Given the description of an element on the screen output the (x, y) to click on. 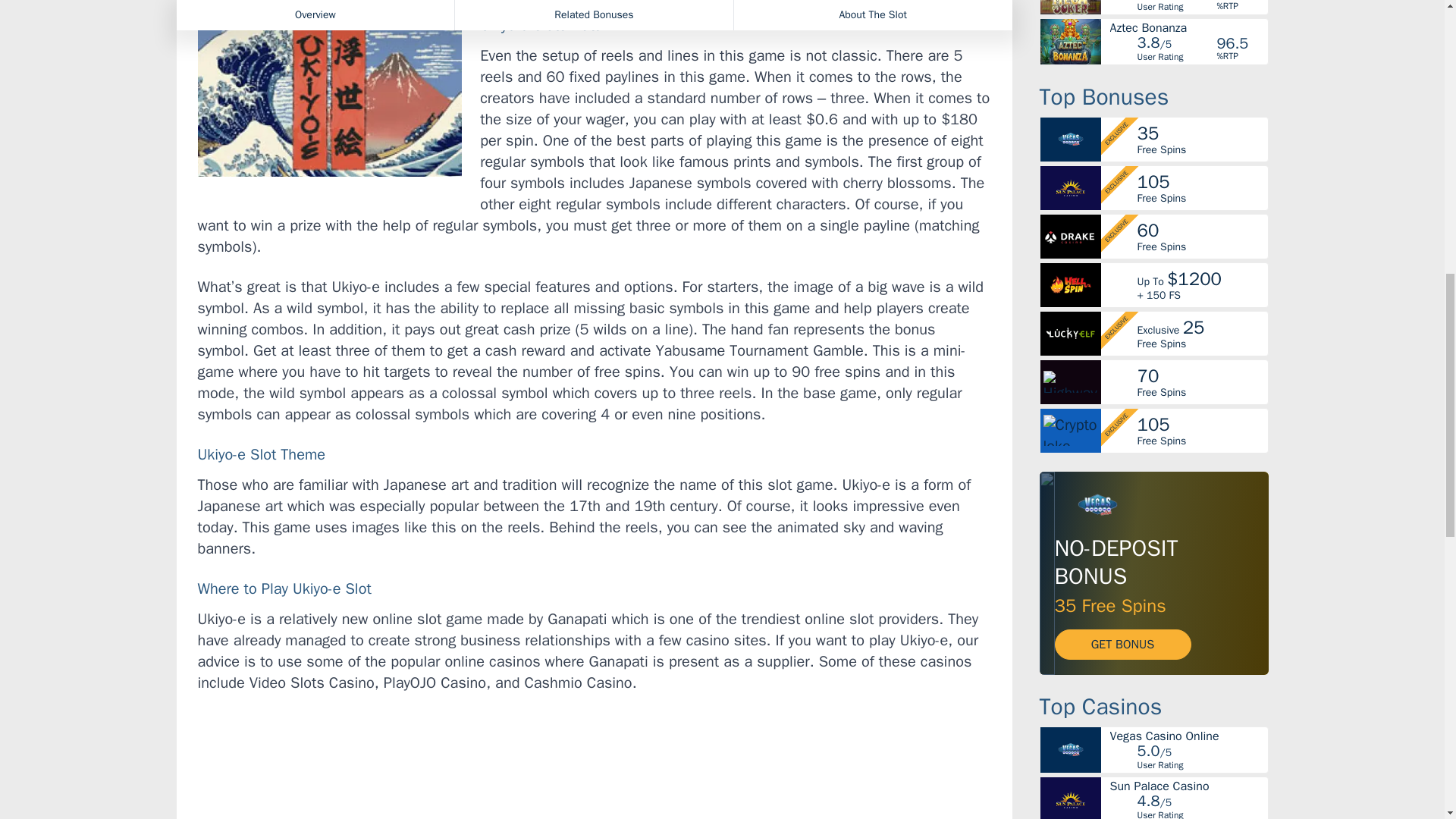
Aztec Bonanza (1187, 27)
Vegas Casino Online (1187, 735)
Sun Palace Casino (1187, 785)
